Given the description of an element on the screen output the (x, y) to click on. 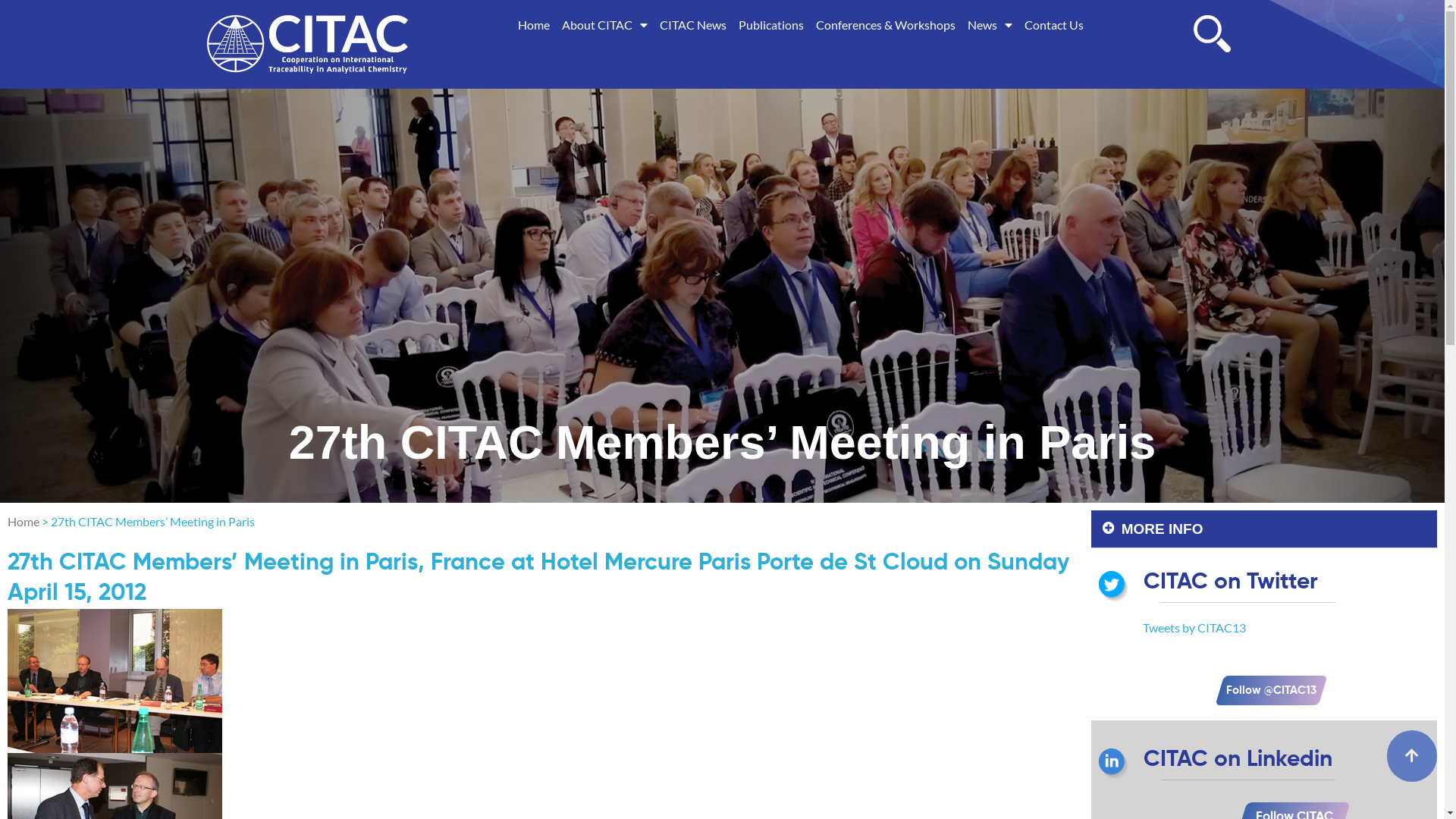
Tweets by CITAC13 Element type: text (1193, 627)
About CITAC Element type: text (604, 24)
Publications Element type: text (770, 24)
CITAC News Element type: text (692, 24)
MORE INFO Element type: text (1162, 528)
News Element type: text (989, 24)
Home Element type: text (23, 521)
Home Element type: text (533, 24)
Follow @CITAC13 Element type: text (1263, 690)
Conferences & Workshops Element type: text (885, 24)
Contact Us Element type: text (1053, 24)
